Given the description of an element on the screen output the (x, y) to click on. 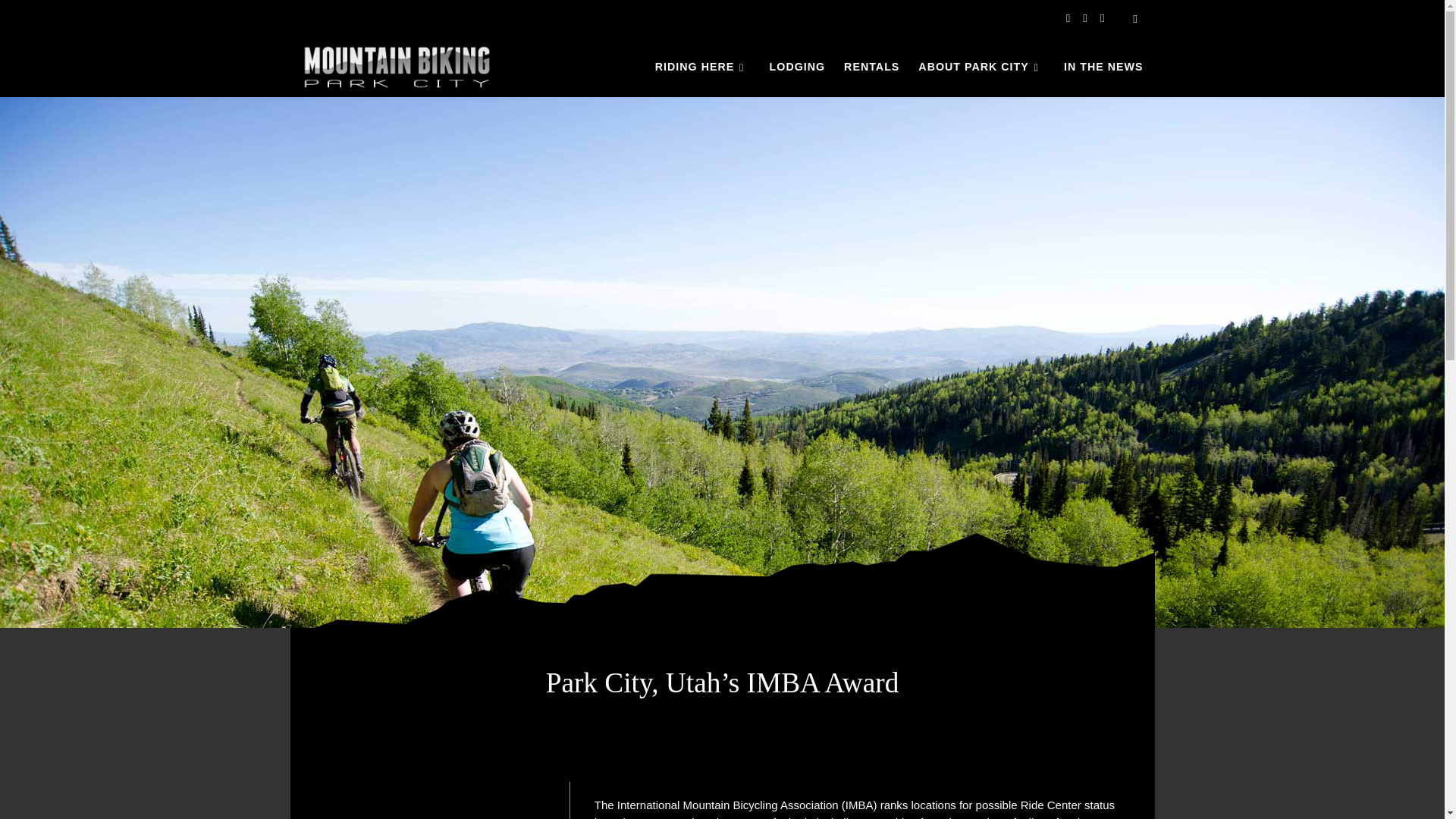
ABOUT PARK CITY (981, 66)
LODGING (796, 66)
RIDING HERE (702, 66)
About Mountain Biking in Park City, Utah (702, 66)
About Park City, Utah (981, 66)
Search (1135, 18)
RENTALS (872, 66)
Skip to content (60, 20)
Lodging in Park City, Utah (796, 66)
IN THE NEWS (1103, 66)
Bike Rentals in Park City, Utah (872, 66)
